Given the description of an element on the screen output the (x, y) to click on. 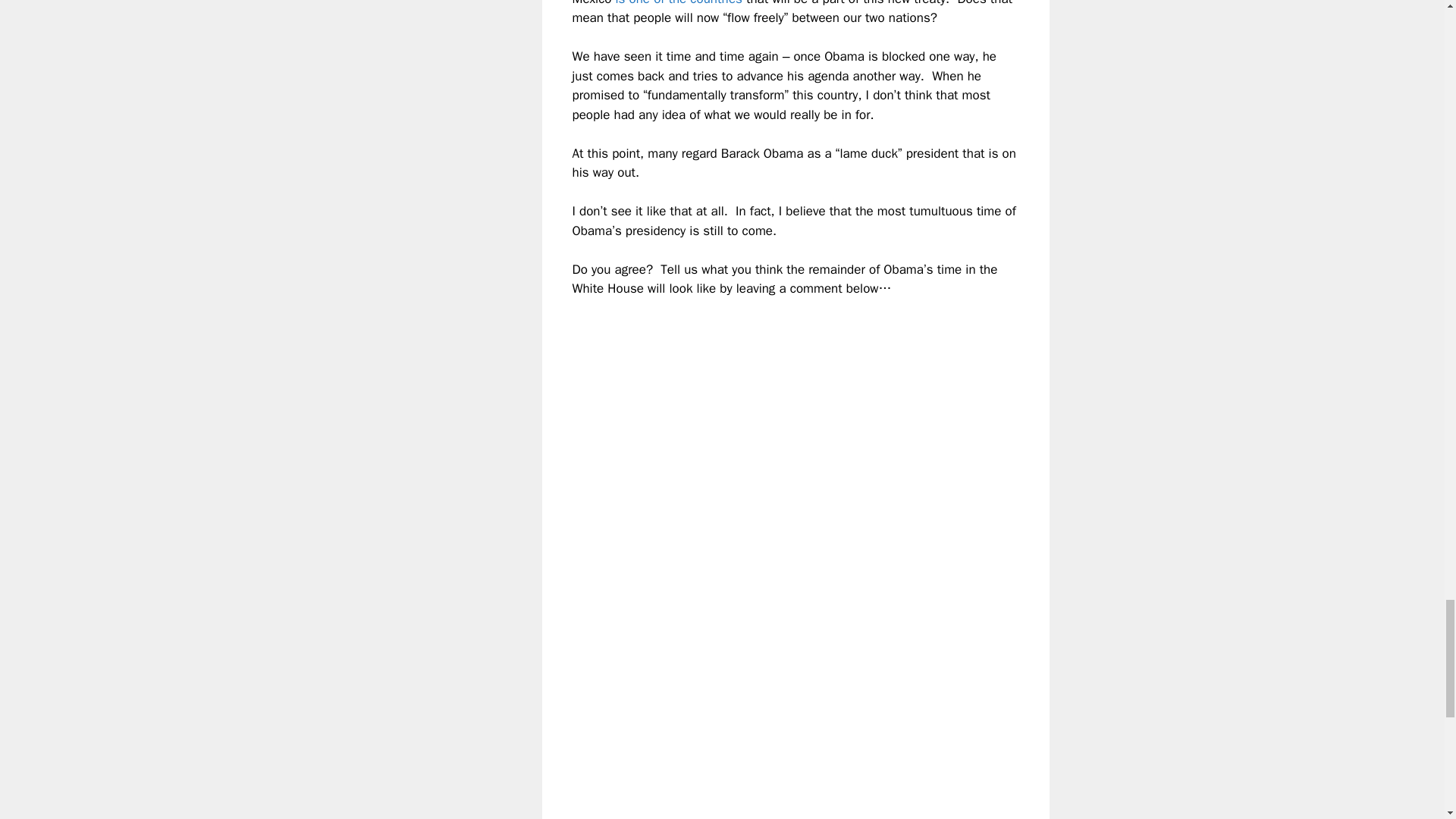
is one of the countries (678, 3)
